Given the description of an element on the screen output the (x, y) to click on. 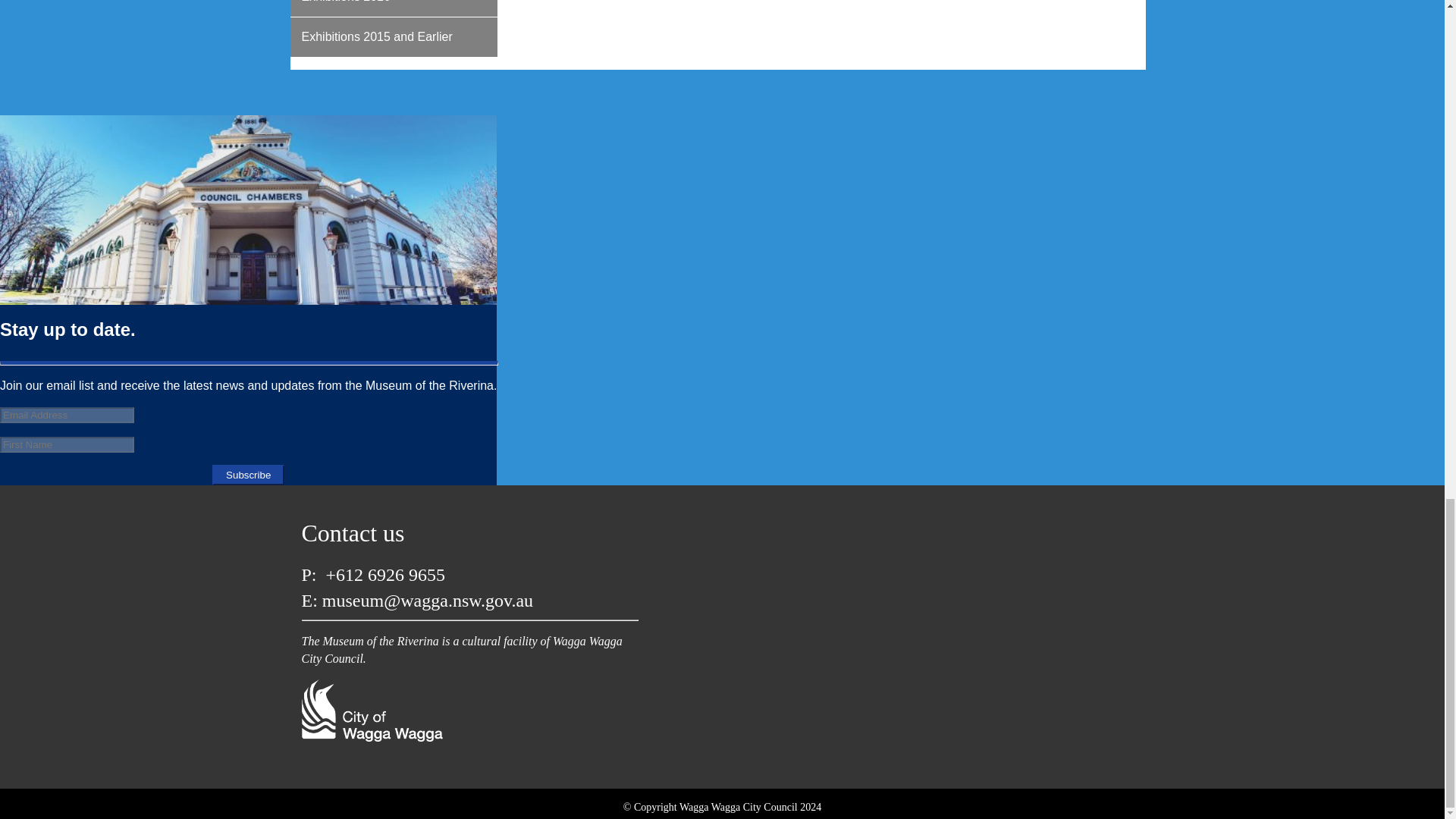
Subscribe (247, 475)
